Given the description of an element on the screen output the (x, y) to click on. 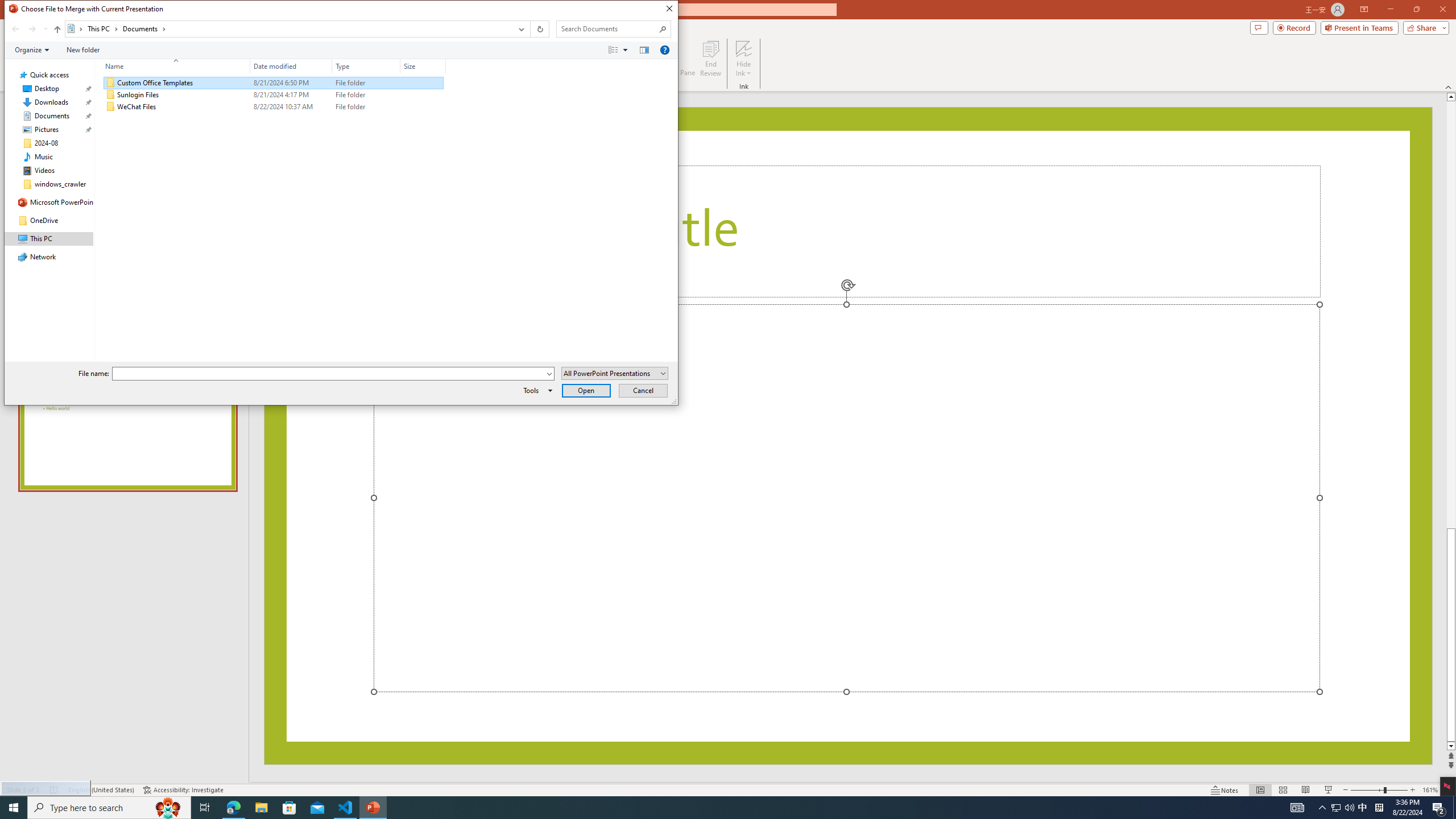
End Review (710, 58)
WeChat Files (273, 106)
Preview pane (644, 49)
Name (183, 106)
New folder (82, 49)
Up band toolbar (57, 30)
Name (173, 65)
